Given the description of an element on the screen output the (x, y) to click on. 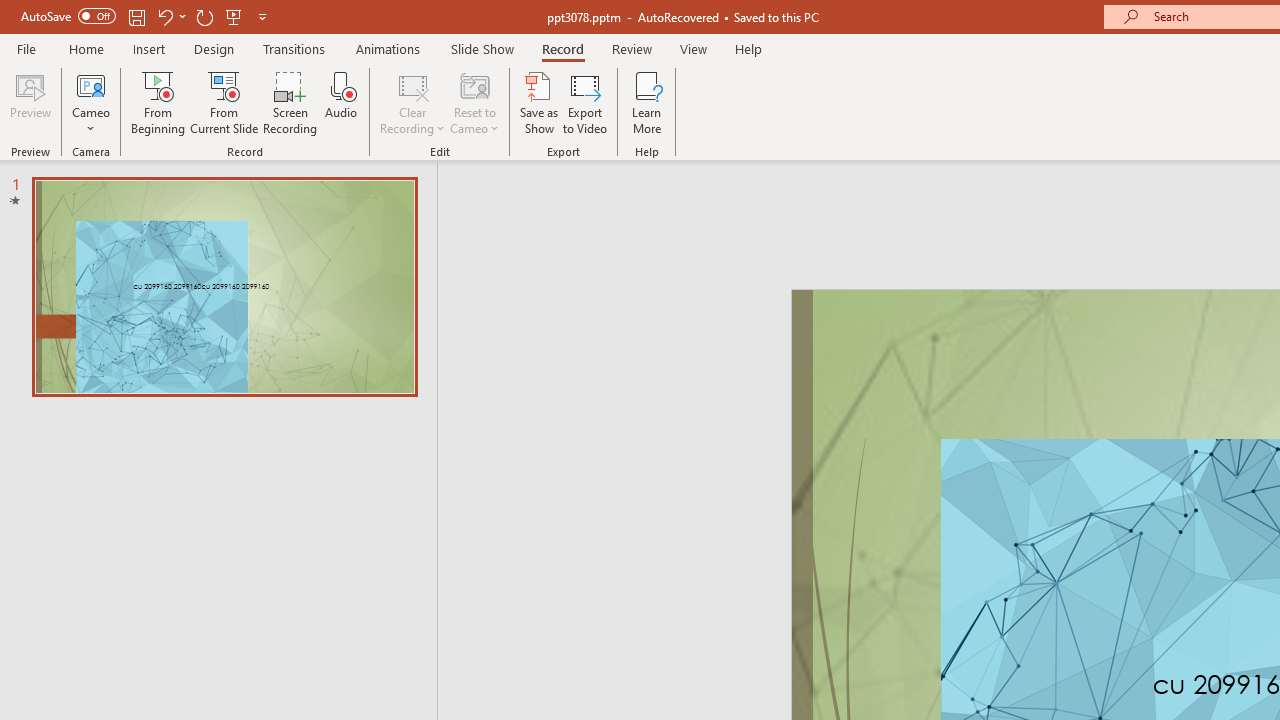
Save as Show (539, 102)
Cameo (91, 102)
From Current Slide... (224, 102)
AutoSave (68, 16)
Preview (30, 102)
Export to Video (585, 102)
View (693, 48)
File Tab (26, 48)
From Beginning (234, 15)
Reset to Cameo (474, 102)
Save (136, 15)
Screen Recording (290, 102)
